Given the description of an element on the screen output the (x, y) to click on. 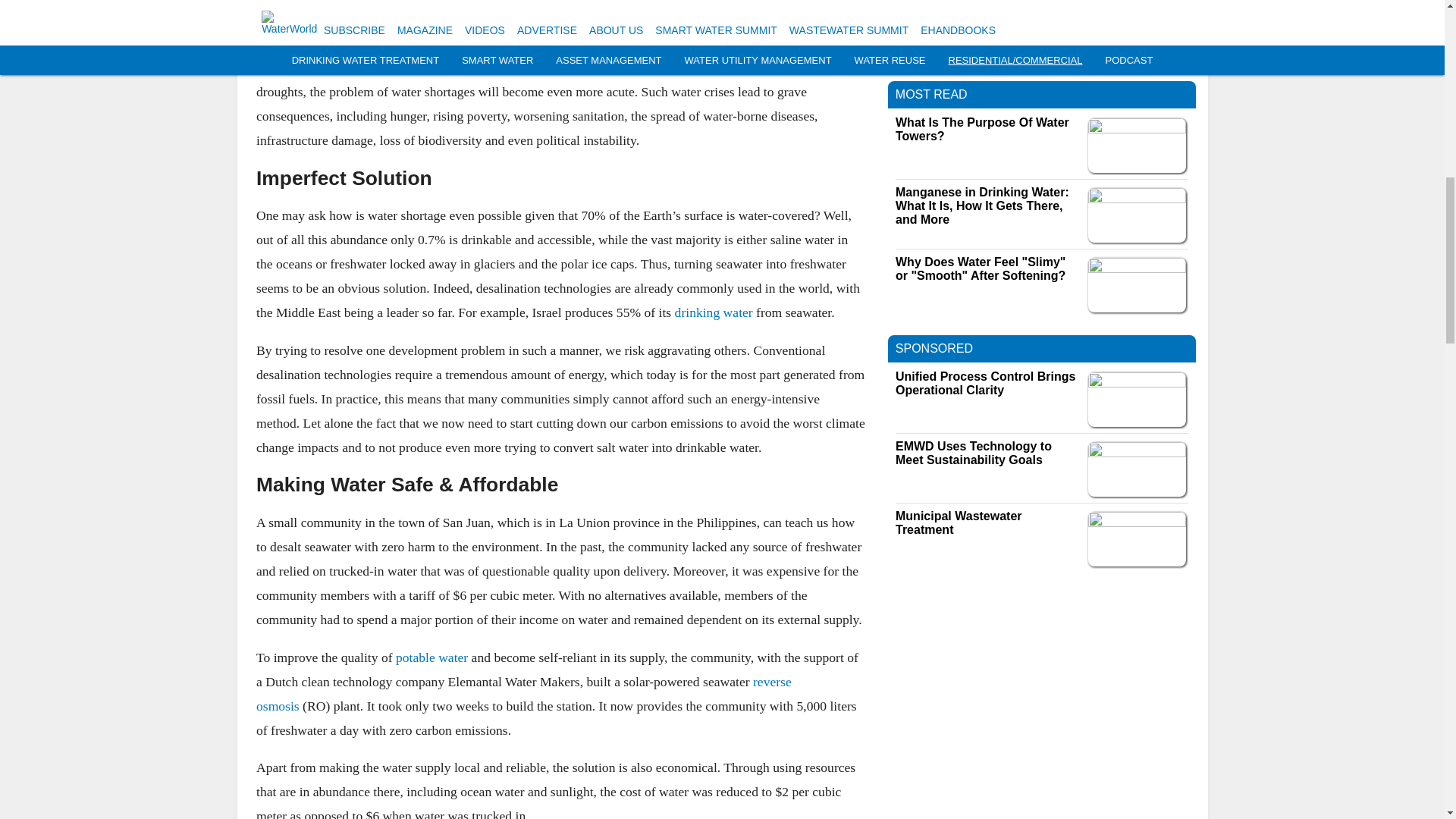
potable water (430, 657)
reverse osmosis (524, 693)
drinking water (713, 313)
